Given the description of an element on the screen output the (x, y) to click on. 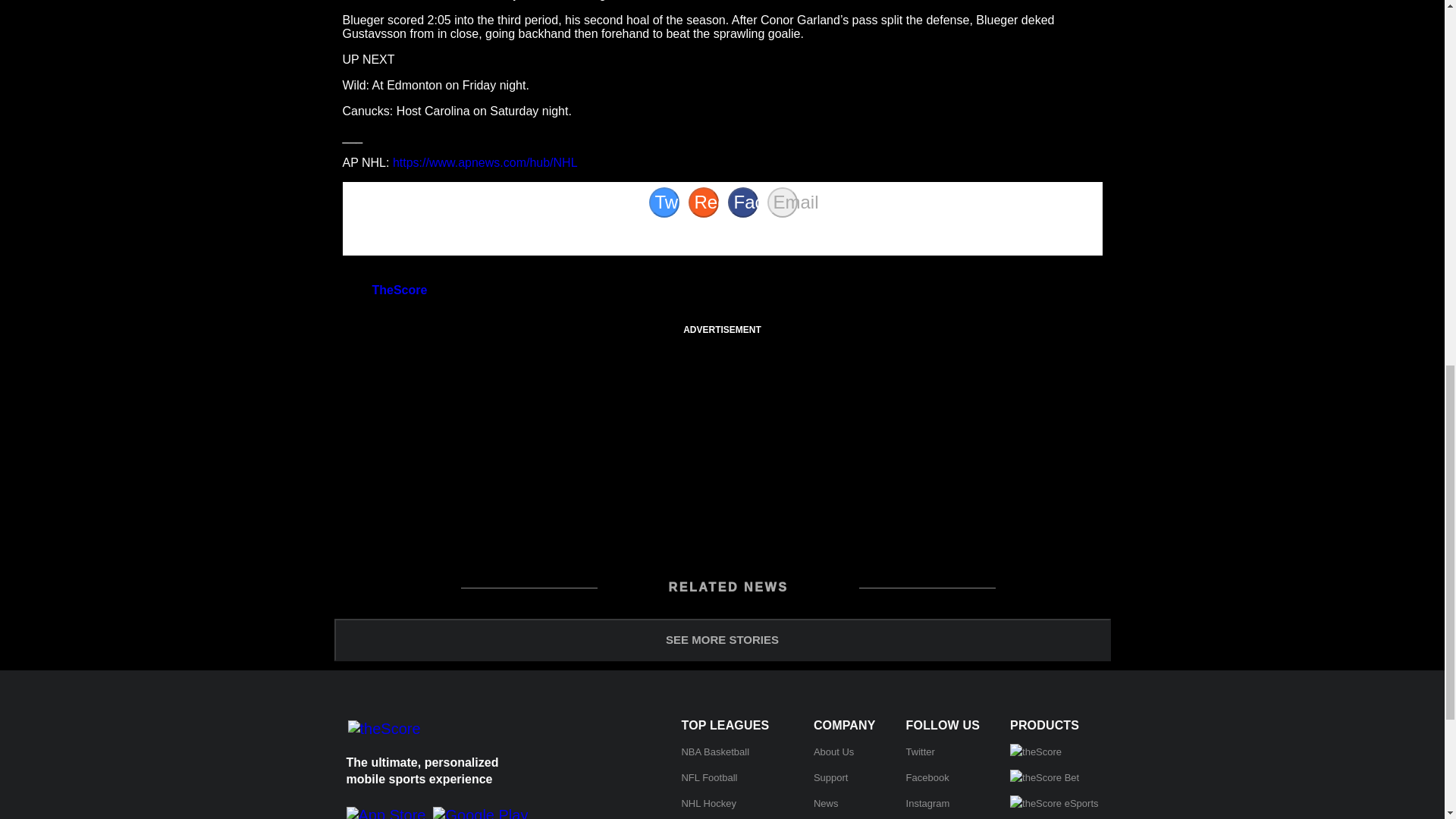
SEE MORE STORIES (721, 639)
NHL Hockey (708, 803)
NBA Basketball (715, 751)
Facebook (743, 202)
Facebook (927, 777)
Instagram (927, 803)
Email (782, 202)
News (825, 803)
Twitter (664, 202)
TheScore (398, 289)
Support (830, 777)
Twitter (919, 751)
Reddit (703, 202)
NFL Football (708, 777)
About Us (833, 751)
